Given the description of an element on the screen output the (x, y) to click on. 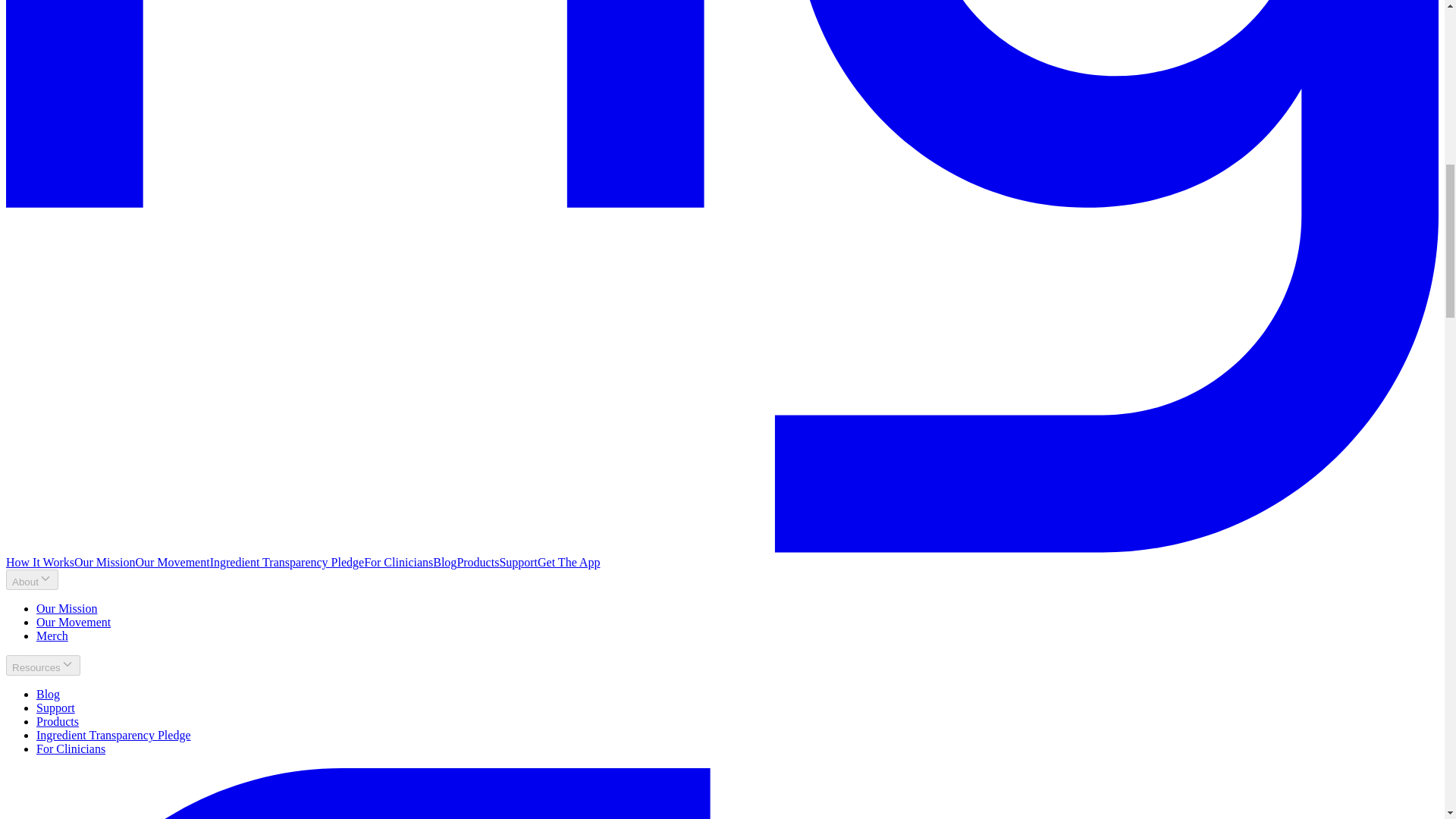
Blog (444, 562)
Blog (47, 694)
About (31, 579)
Our Mission (66, 608)
Resources (42, 665)
Products (57, 721)
Ingredient Transparency Pledge (113, 735)
How It Works (39, 562)
Resources (42, 665)
About (31, 579)
